Given the description of an element on the screen output the (x, y) to click on. 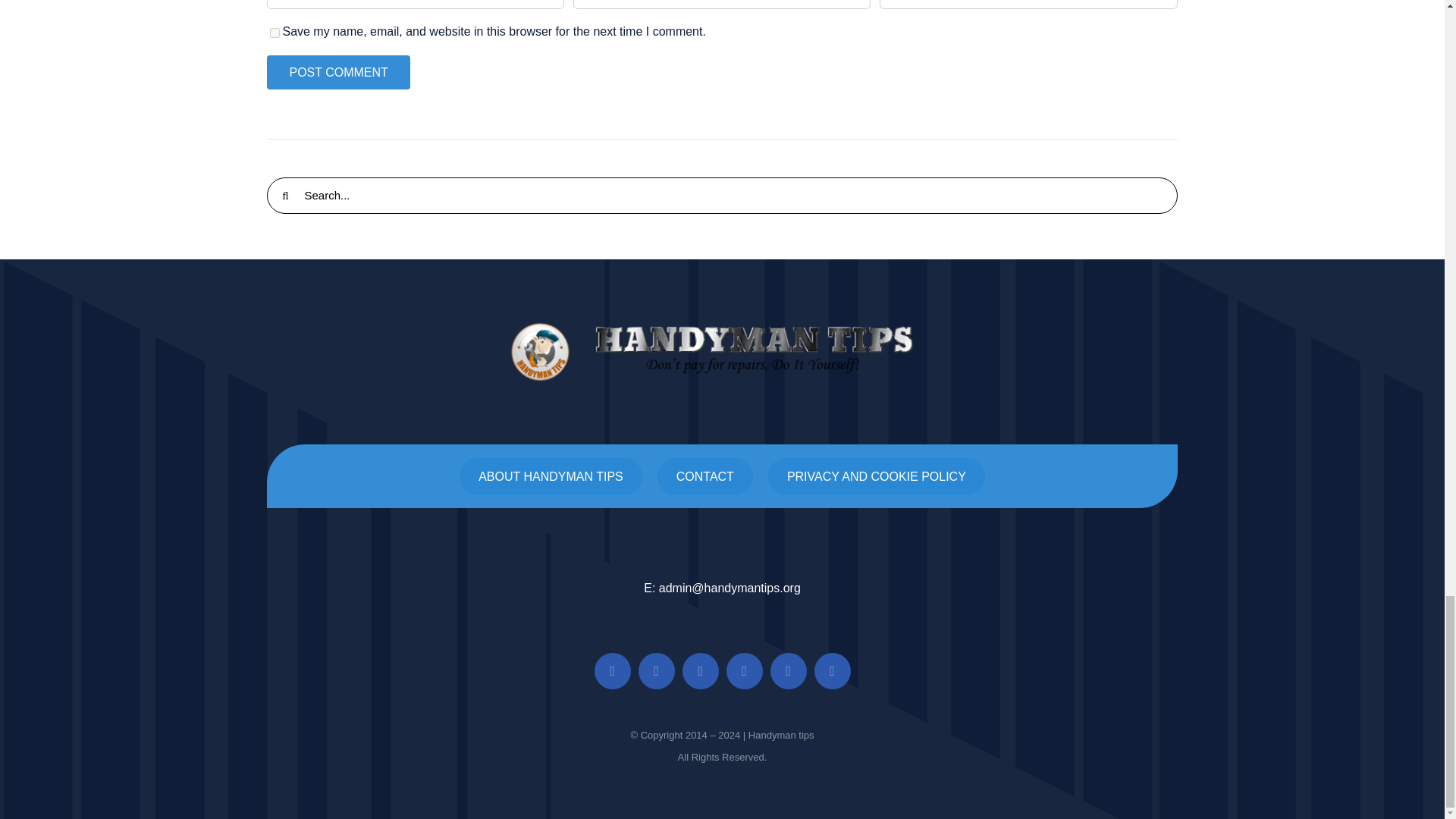
PRIVACY AND COOKIE POLICY (876, 476)
yes (274, 32)
Post Comment (337, 72)
CONTACT (705, 476)
ABOUT HANDYMAN TIPS (551, 476)
Post Comment (337, 72)
Handyman tips header new (721, 352)
